Given the description of an element on the screen output the (x, y) to click on. 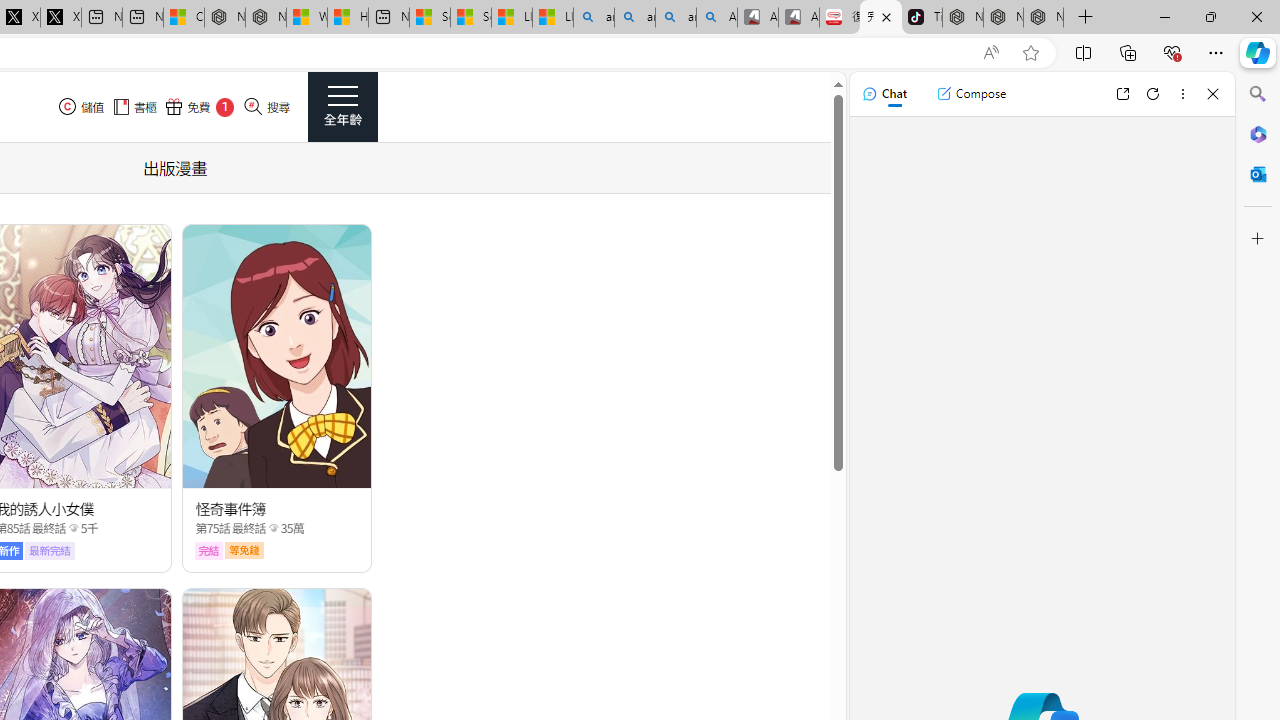
More options (1182, 93)
Customize (1258, 239)
Chat (884, 93)
Open link in new tab (1122, 93)
